Given the description of an element on the screen output the (x, y) to click on. 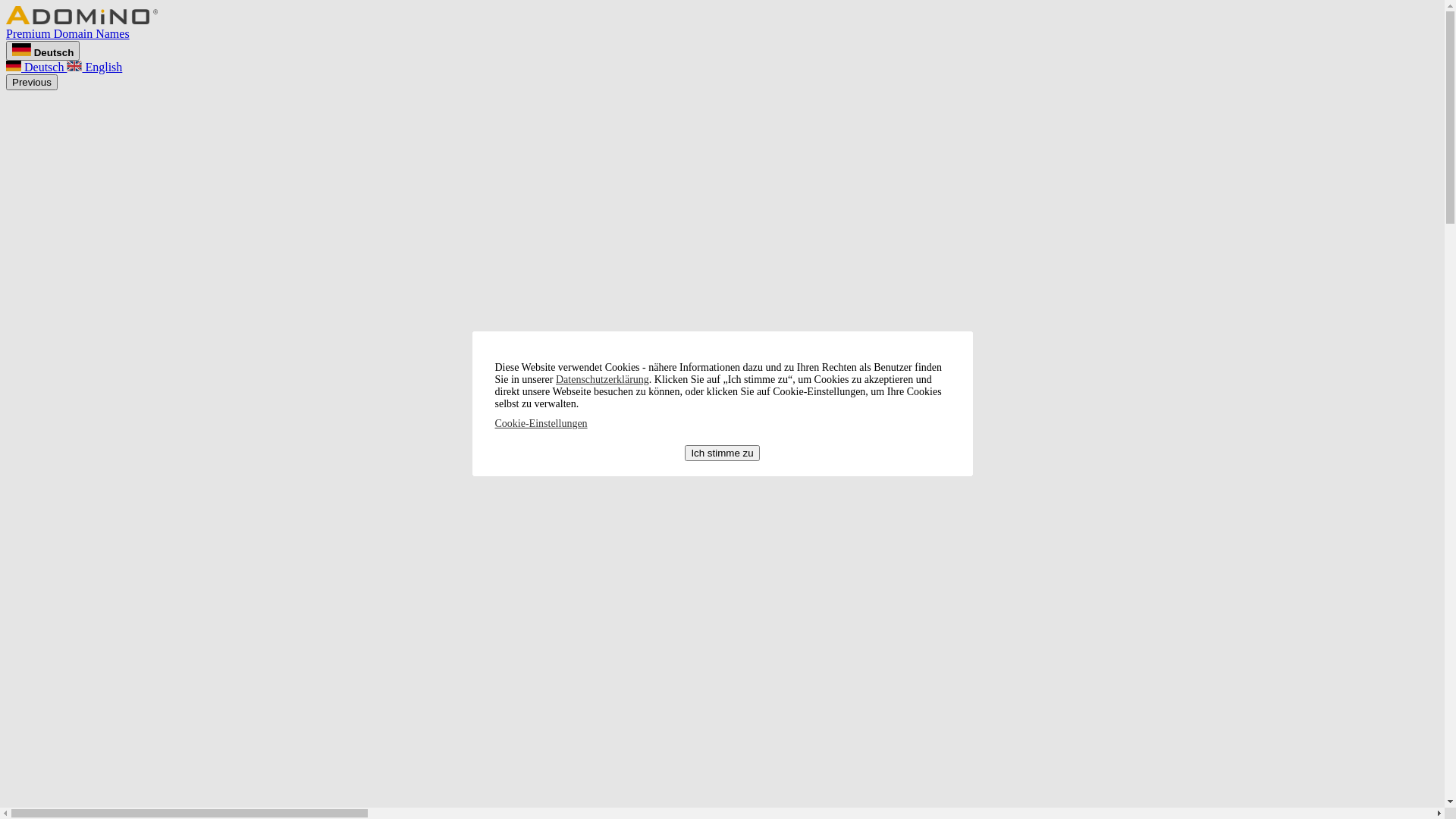
Premium Domain Names Element type: text (722, 26)
Deutsch Element type: text (36, 66)
English Element type: text (94, 66)
Ich stimme zu Element type: text (721, 453)
Previous Element type: text (31, 82)
Cookie-Einstellungen Element type: text (540, 423)
Deutsch Element type: text (42, 50)
